Given the description of an element on the screen output the (x, y) to click on. 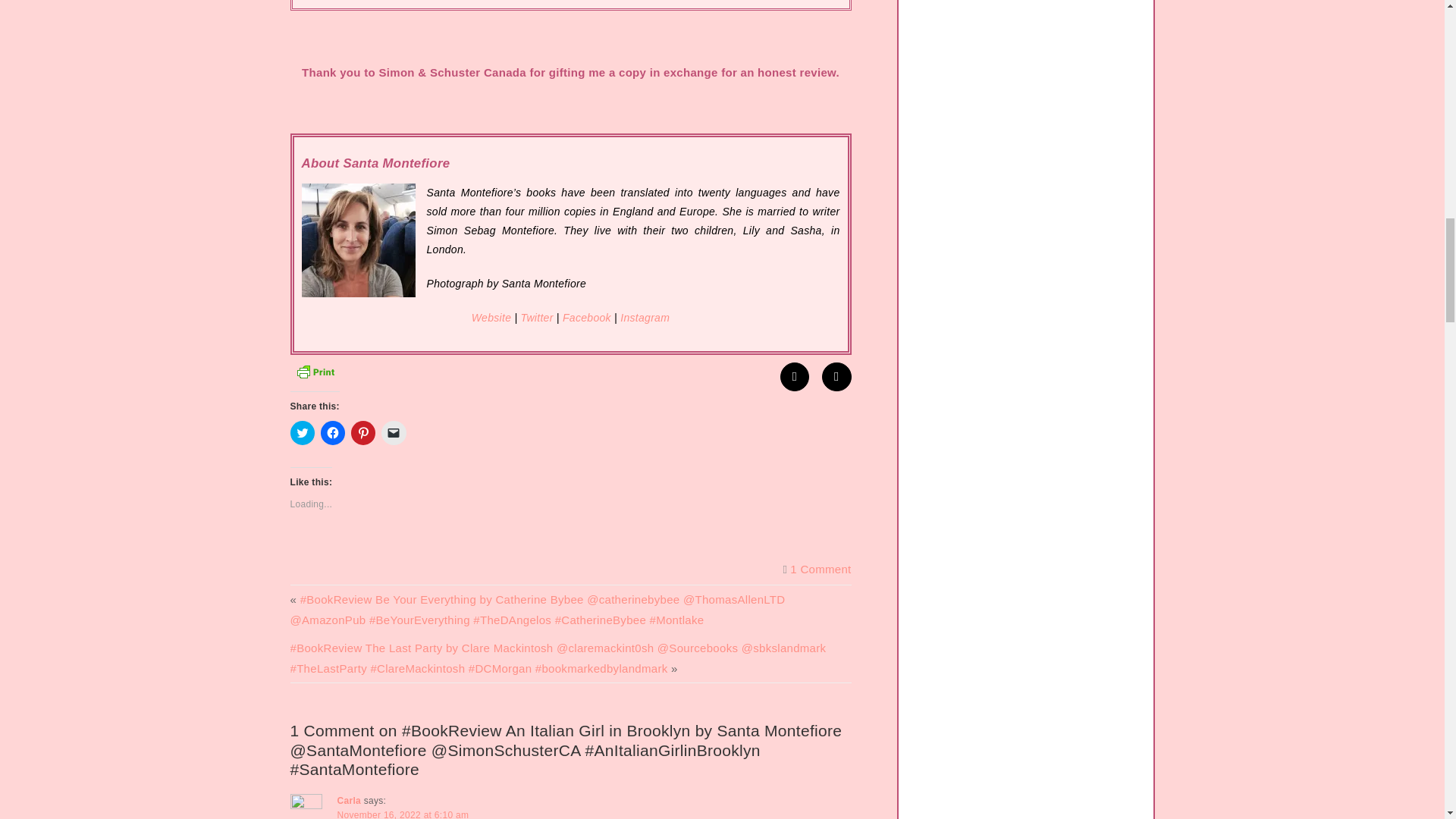
Click to share on Facebook (332, 432)
Click to share on Pinterest (362, 432)
Click to share on Twitter (301, 432)
Click to email a link to a friend (393, 432)
